Given the description of an element on the screen output the (x, y) to click on. 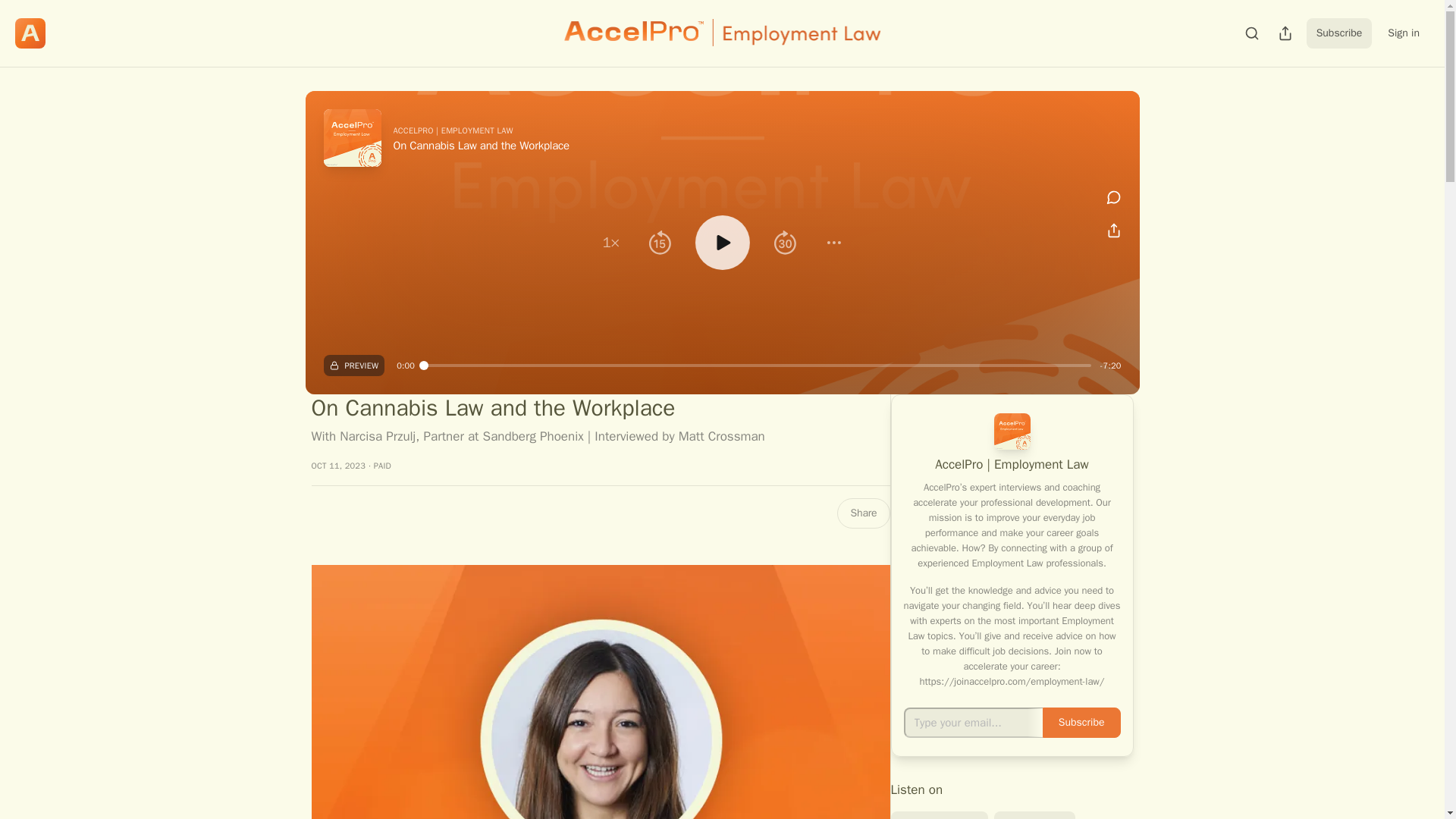
Subscribe (1339, 33)
Share (863, 512)
Subscribe (1081, 722)
Sign in (1403, 33)
